Given the description of an element on the screen output the (x, y) to click on. 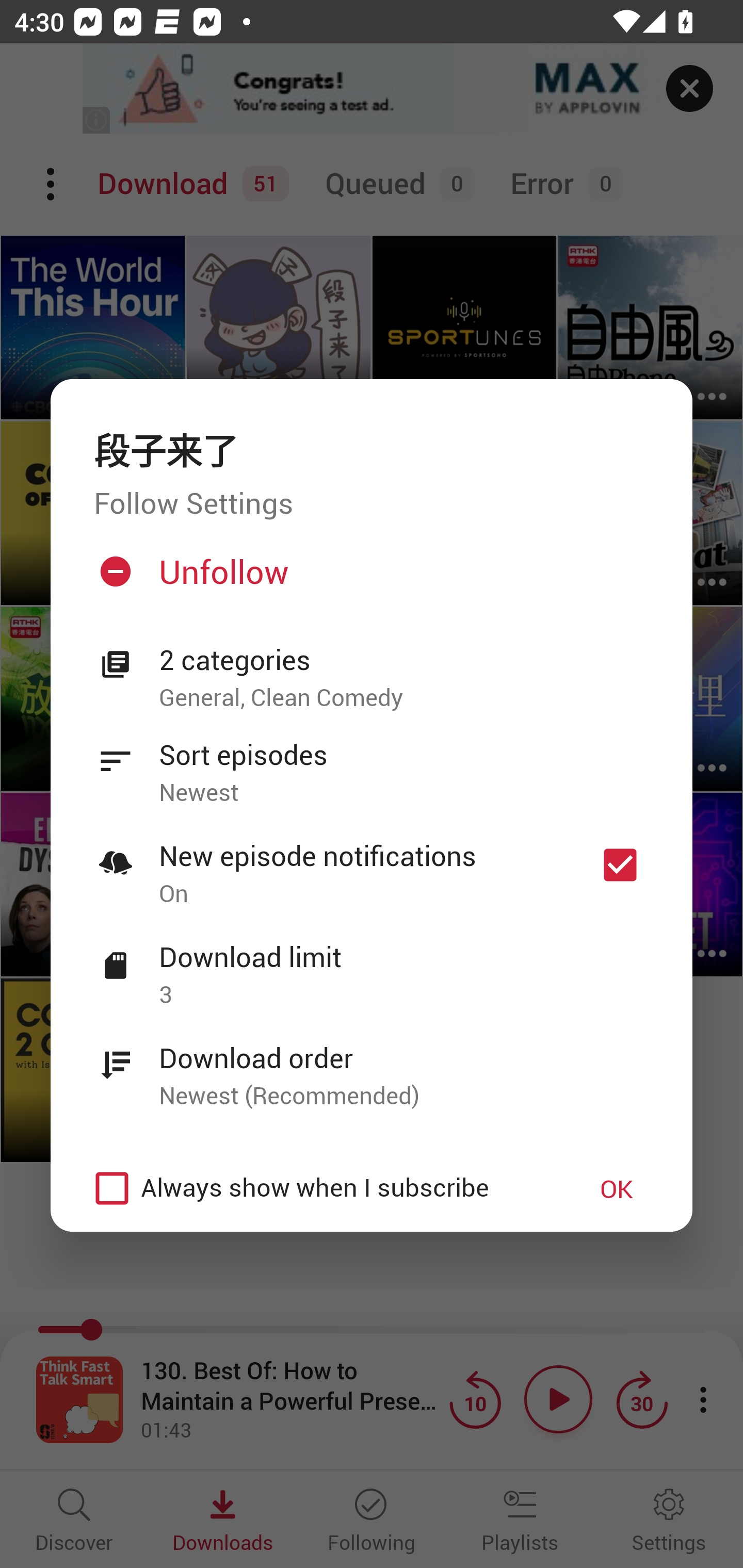
Unfollow (369, 580)
2 categories (404, 660)
General, Clean Comedy (404, 697)
Sort episodes Newest (371, 761)
New episode notifications (620, 864)
Download limit 3 (371, 964)
Download order Newest (Recommended) (371, 1065)
OK (616, 1188)
Always show when I subscribe (320, 1187)
